Given the description of an element on the screen output the (x, y) to click on. 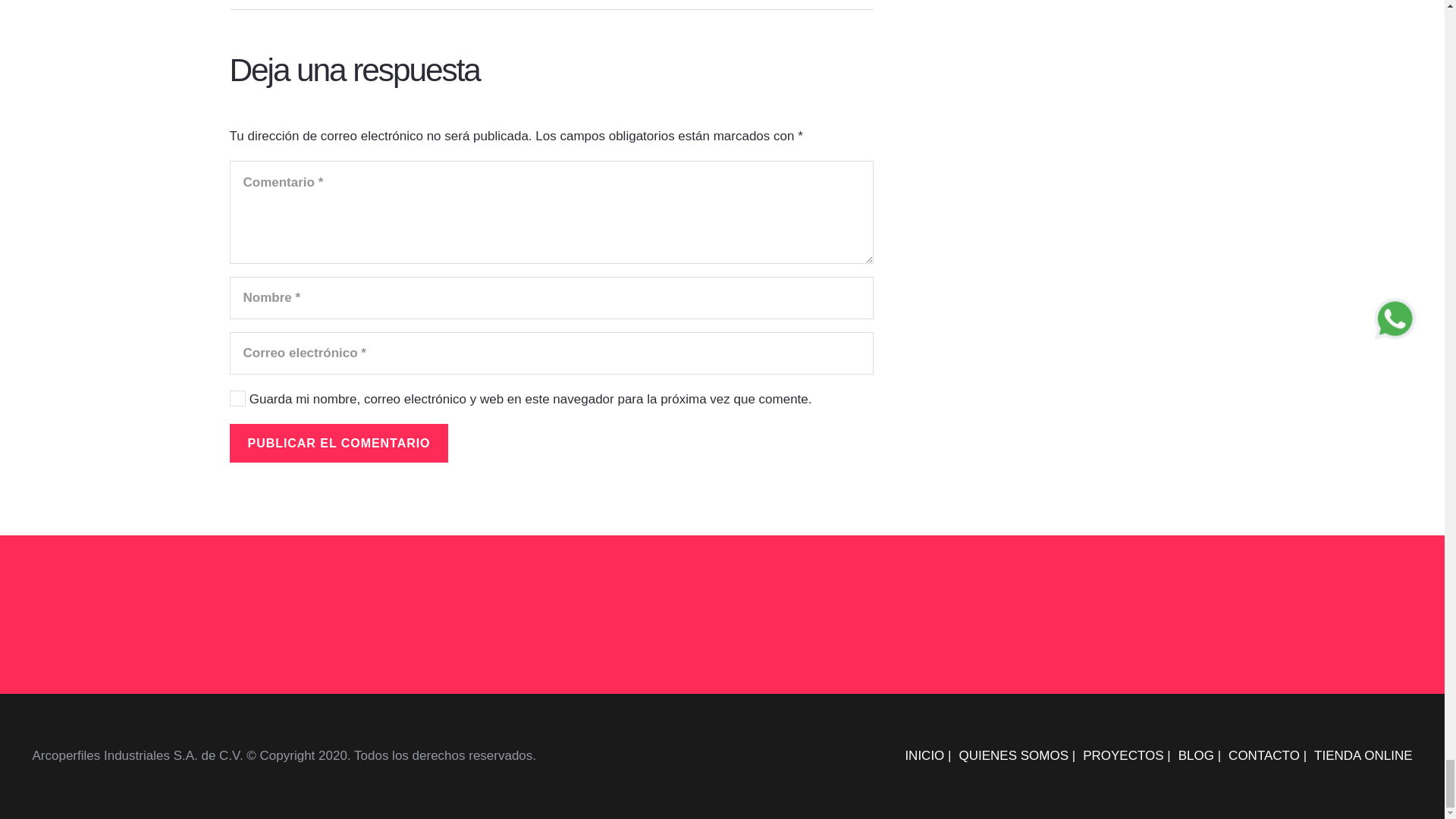
1 (236, 396)
PUBLICAR EL COMENTARIO (338, 443)
